Given the description of an element on the screen output the (x, y) to click on. 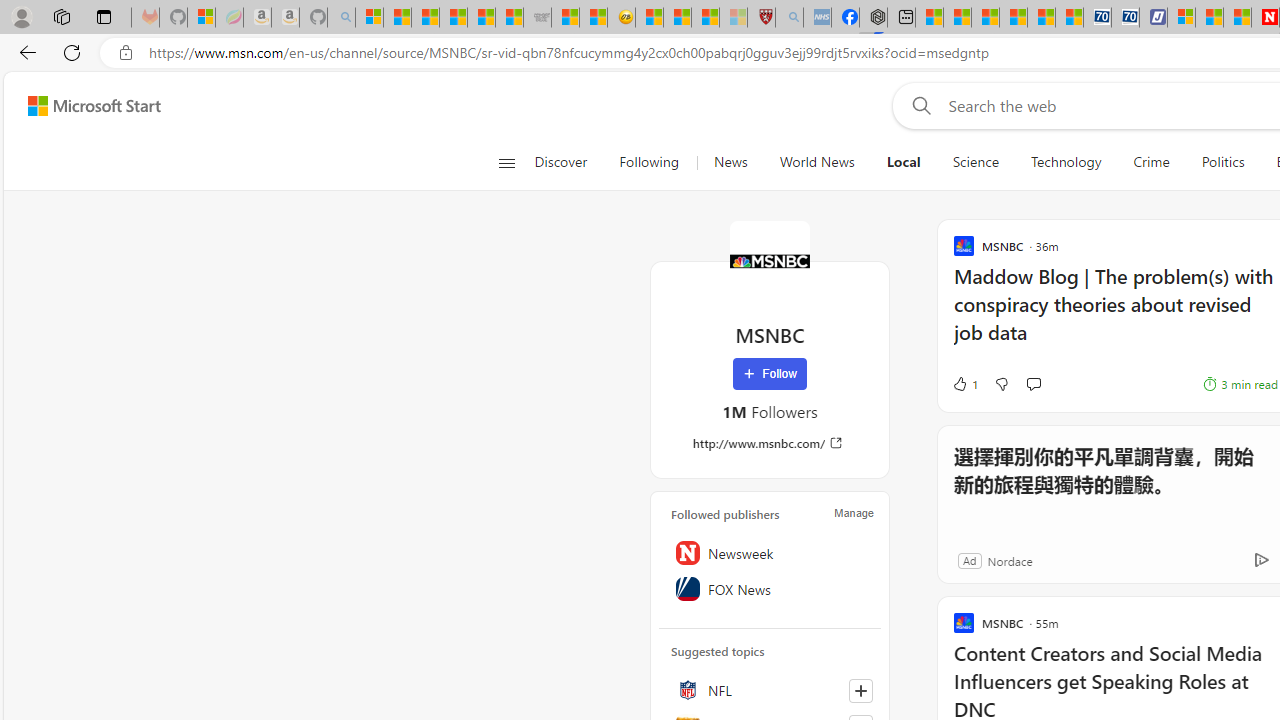
Follow (769, 373)
Crime (1151, 162)
Open navigation menu (506, 162)
Science (975, 162)
Local (903, 162)
Technology (1065, 162)
Local (903, 162)
